Given the description of an element on the screen output the (x, y) to click on. 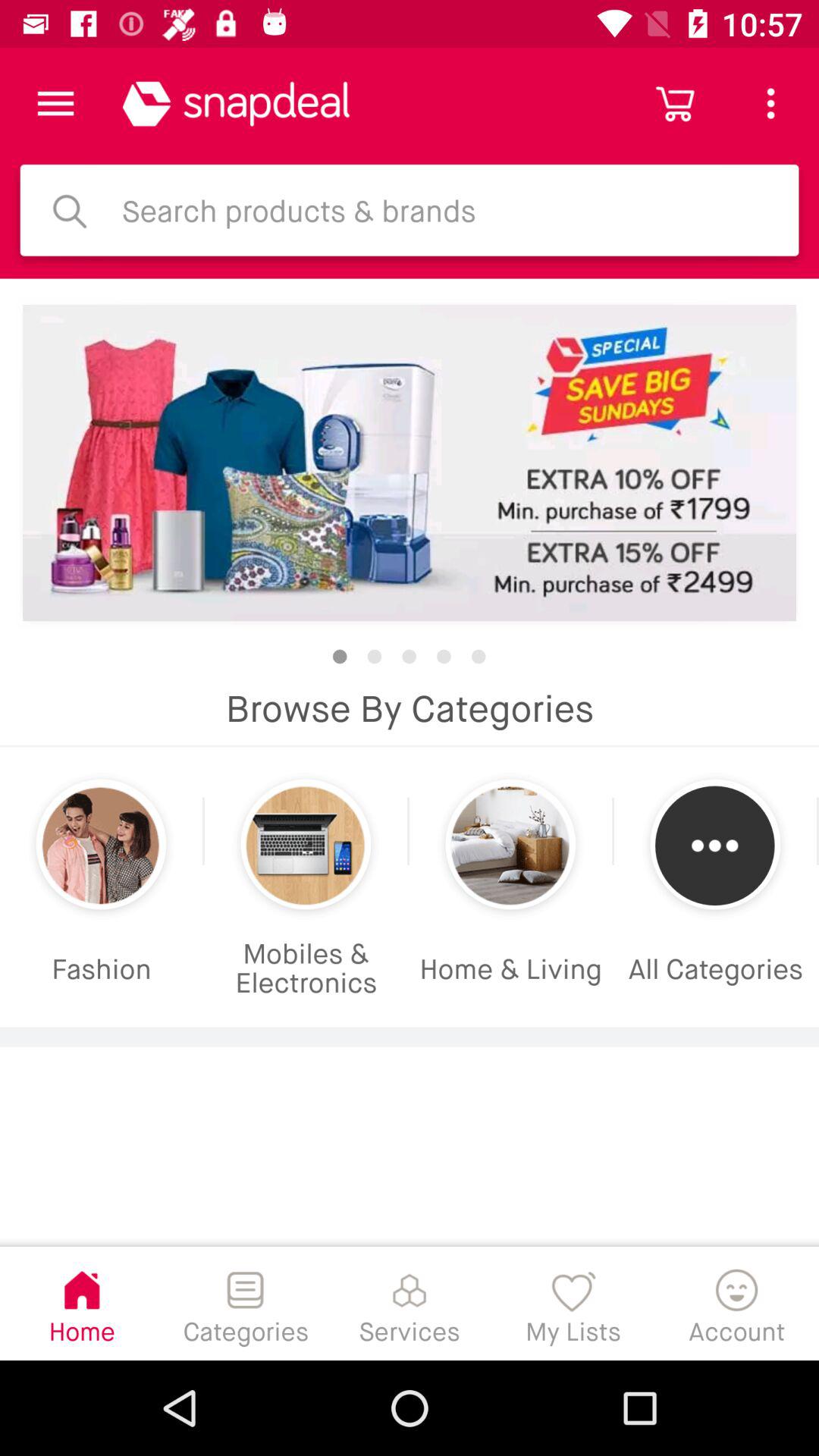
swipe to the account item (737, 1303)
